Given the description of an element on the screen output the (x, y) to click on. 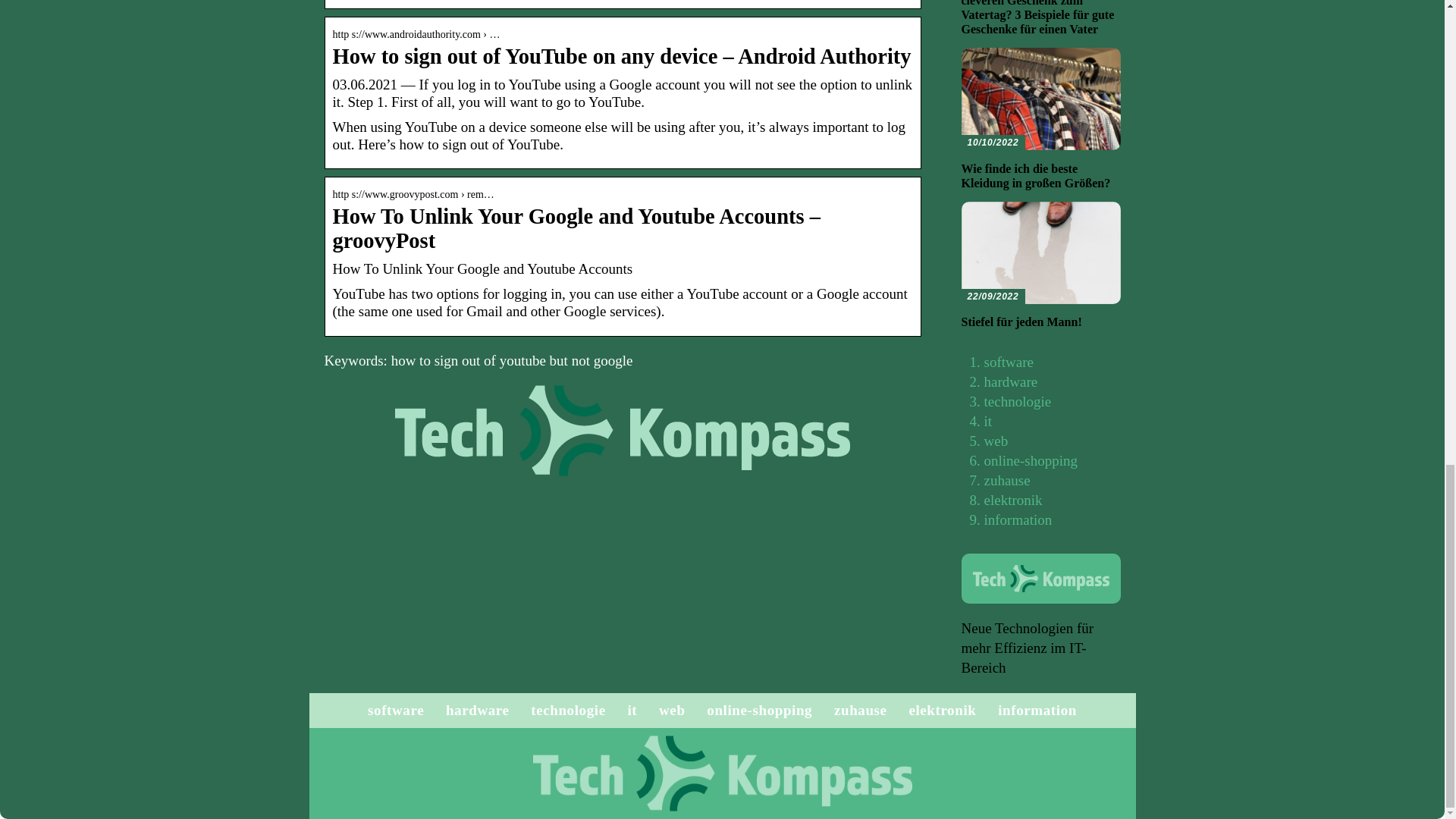
zuhause (860, 709)
technologie (568, 709)
online-shopping (759, 709)
elektronik (941, 709)
web (672, 709)
web (996, 440)
software (395, 709)
online-shopping (1031, 460)
hardware (477, 709)
elektronik (1013, 499)
technologie (1017, 401)
hardware (1011, 381)
zuhause (1007, 480)
information (1018, 519)
software (1008, 361)
